Given the description of an element on the screen output the (x, y) to click on. 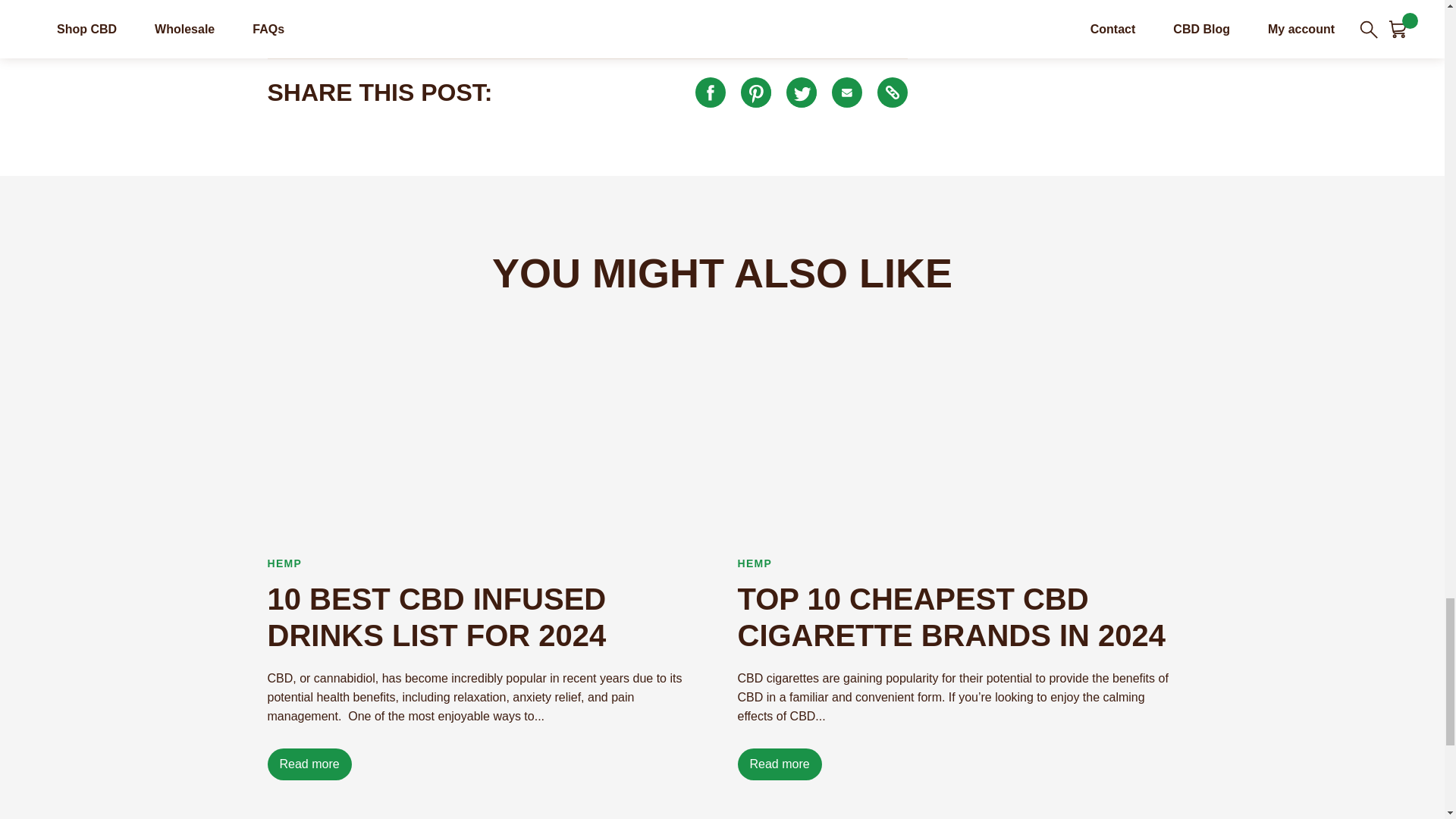
Share this post on Twitter (801, 91)
Copy this post to your clipboard (892, 91)
Pin this post on Pinterest (756, 91)
Share this post on Facebook (710, 91)
Share this post via Email (846, 91)
